Given the description of an element on the screen output the (x, y) to click on. 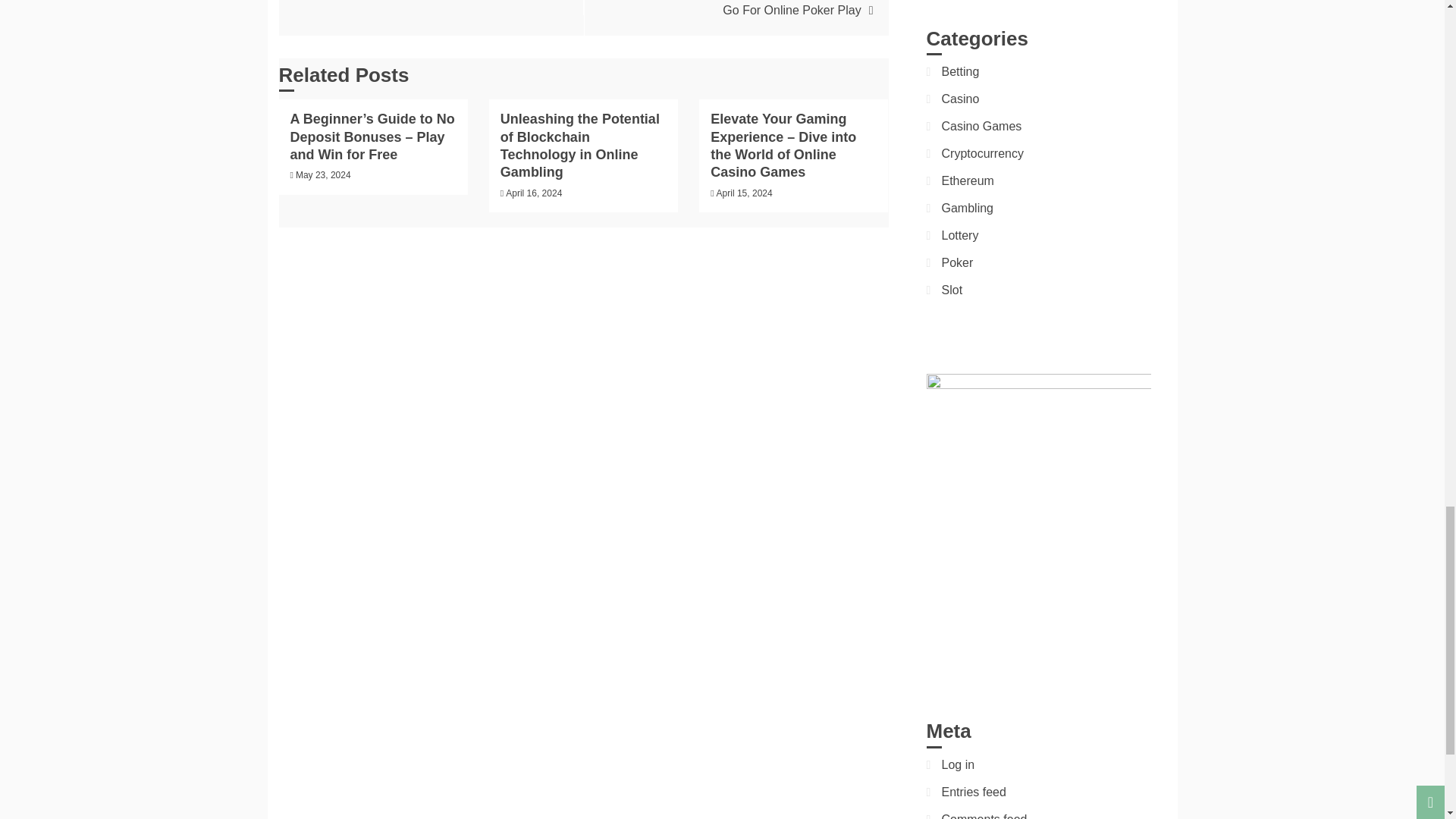
April 16, 2024 (533, 193)
April 15, 2024 (744, 193)
May 23, 2024 (322, 174)
